Given the description of an element on the screen output the (x, y) to click on. 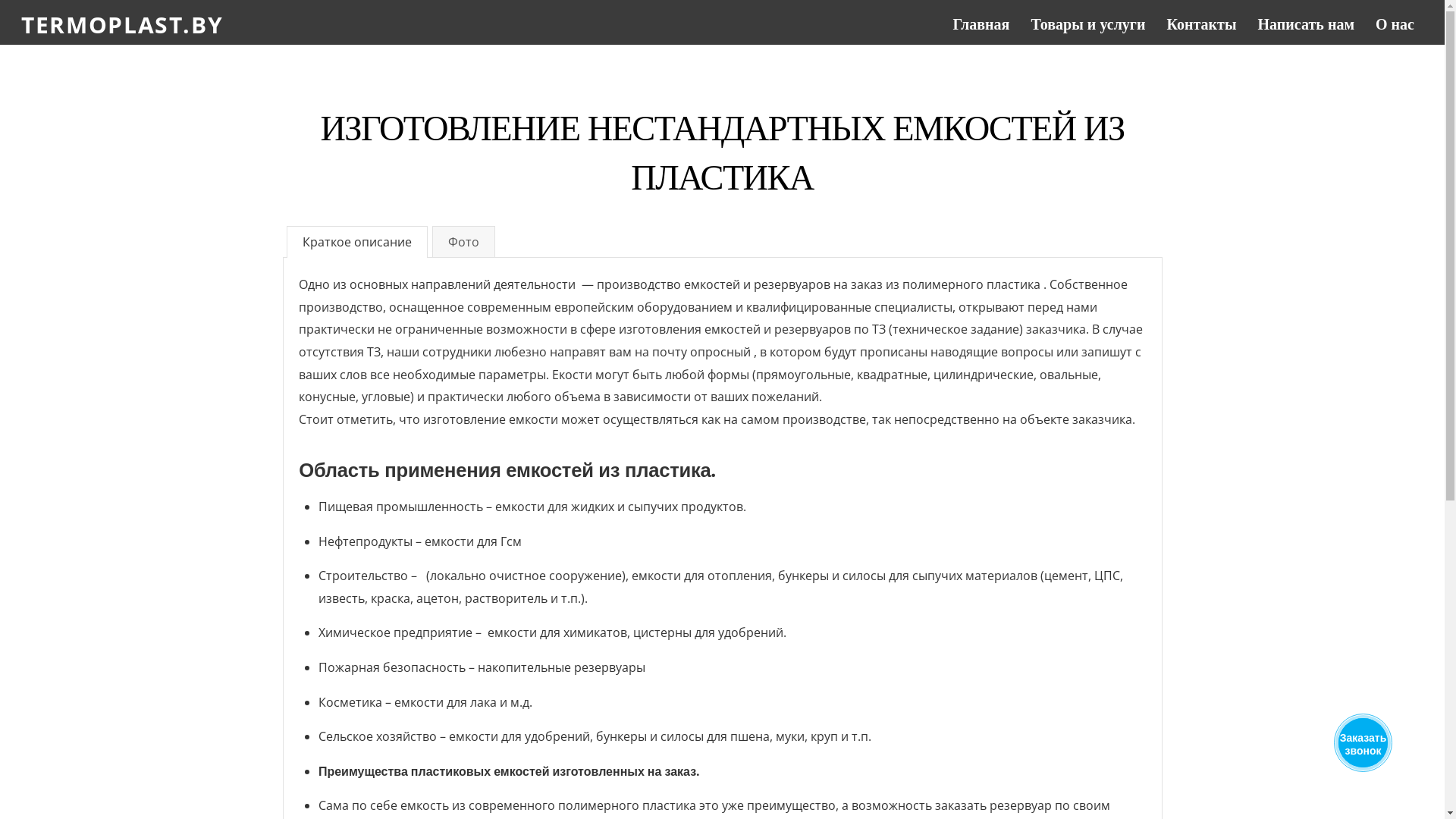
TERMOPLAST.BY Element type: text (121, 24)
